Given the description of an element on the screen output the (x, y) to click on. 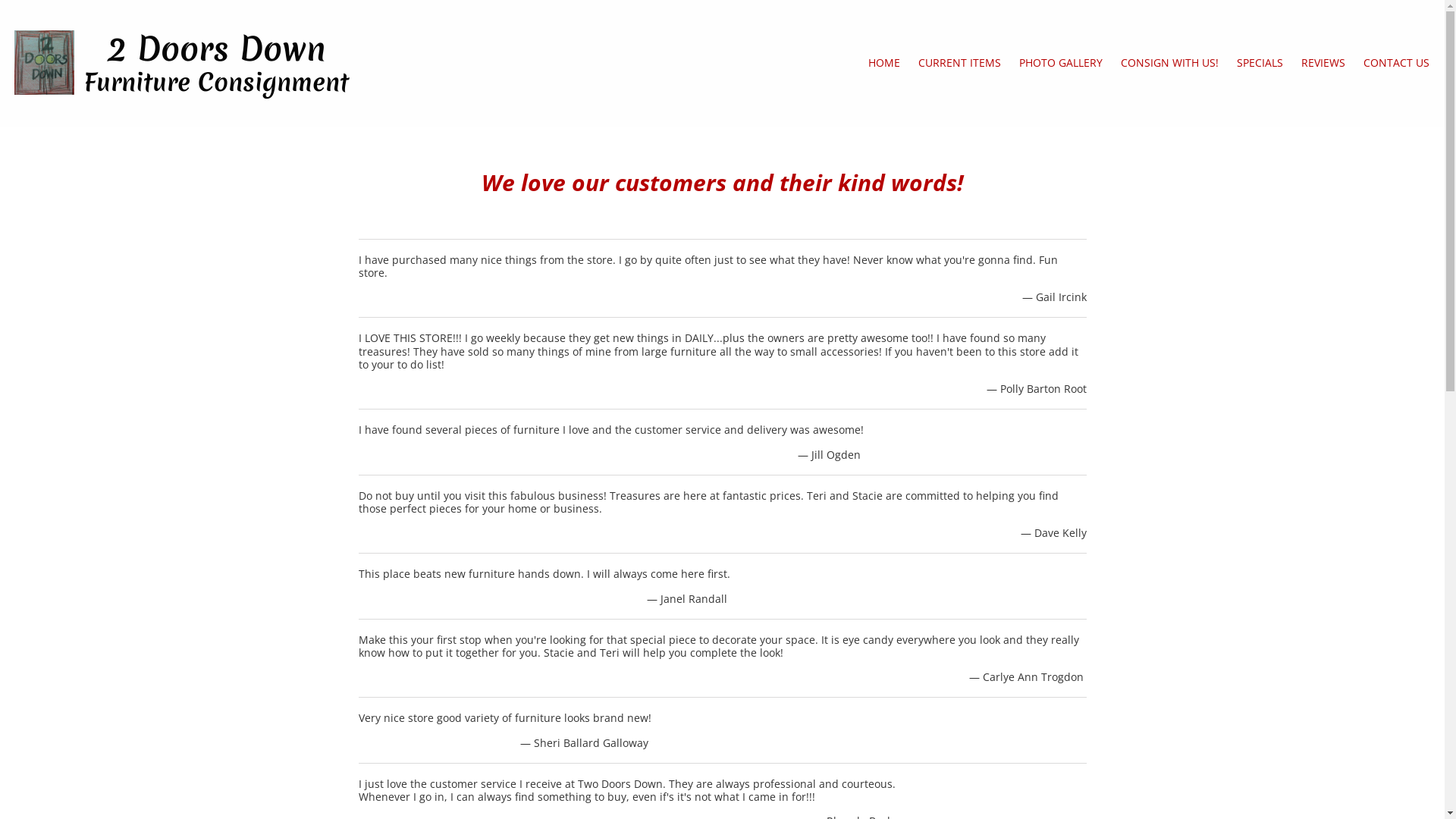
CURRENT ITEMS Element type: text (959, 63)
REVIEWS Element type: text (1323, 63)
CONTACT US Element type: text (1396, 63)
2 Doors Down Element type: text (216, 48)
PHOTO GALLERY Element type: text (1060, 63)
HOME Element type: text (884, 63)
SPECIALS Element type: text (1259, 63)
CONSIGN WITH US! Element type: text (1169, 63)
